Given the description of an element on the screen output the (x, y) to click on. 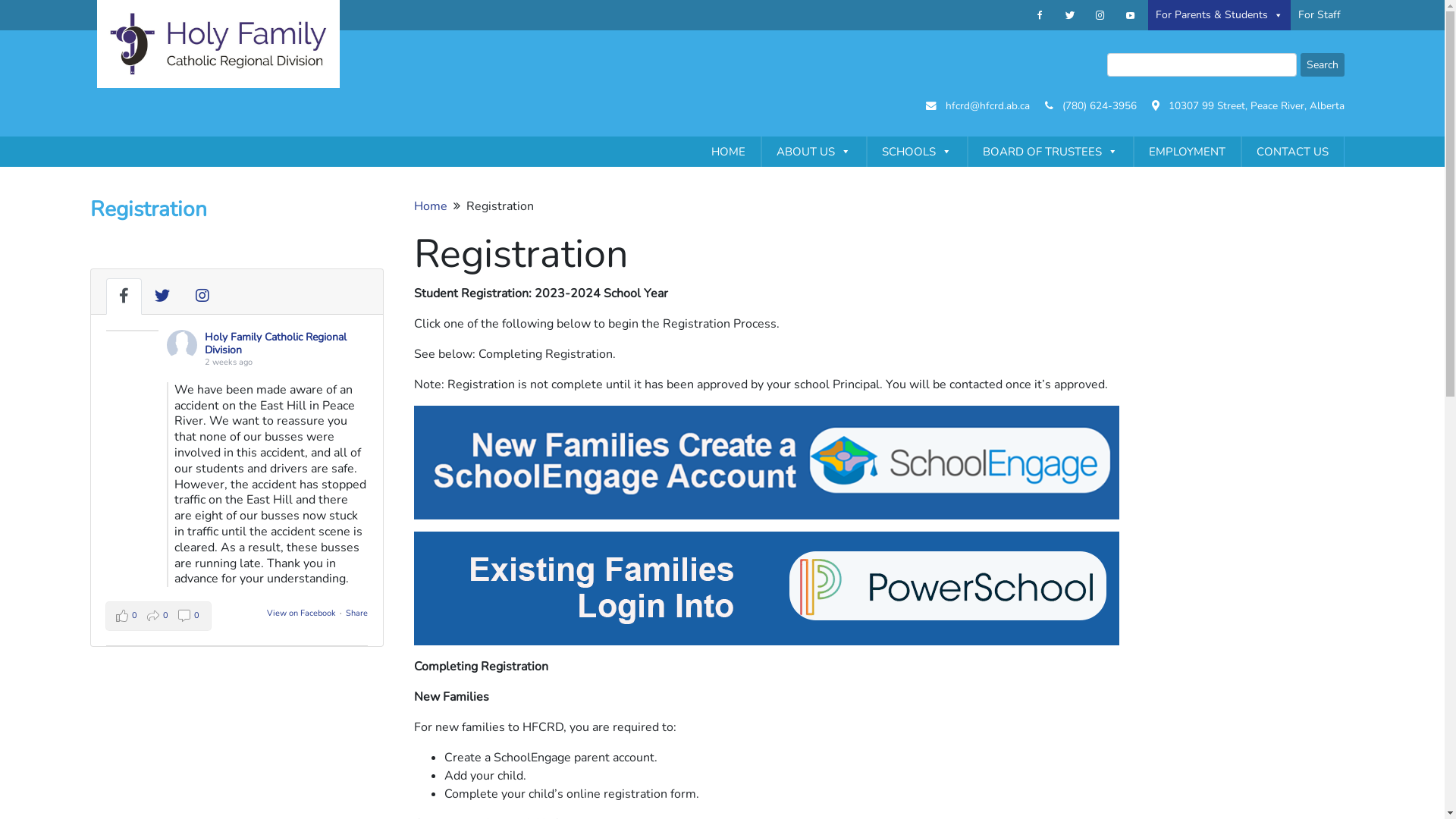
For Parents & Students Element type: text (1219, 15)
View on Facebook Element type: text (300, 612)
SCHOOLS Element type: text (916, 151)
Search Element type: text (1321, 64)
BOARD OF TRUSTEES Element type: text (1049, 151)
Holy Family Catholic Regional Division Element type: text (275, 343)
View Comments
Likes:
0
Shares:
0
Comments:
0 Element type: text (158, 616)
HOME Element type: text (728, 151)
Share Element type: text (356, 612)
ABOUT US Element type: text (813, 151)
EMPLOYMENT Element type: text (1185, 151)
Home Element type: text (430, 205)
CONTACT US Element type: text (1291, 151)
For Staff Element type: text (1319, 15)
10307 99 Street, Peace River, Alberta Element type: text (1255, 105)
